Given the description of an element on the screen output the (x, y) to click on. 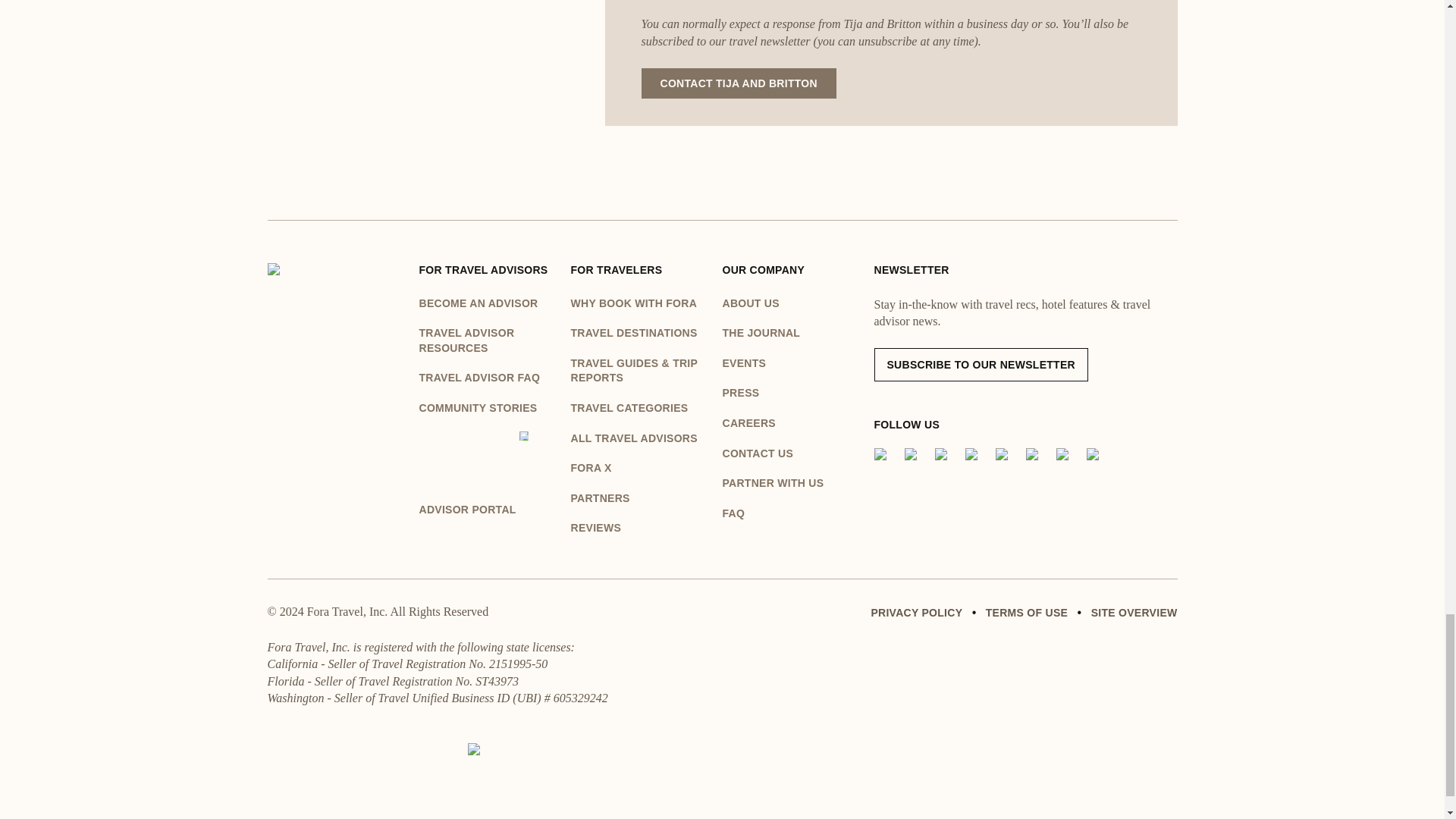
ABOUT US (797, 304)
BECOME AN ADVISOR (486, 304)
CONTACT TIJA AND BRITTON (738, 82)
TRAVEL ADVISOR FAQ (486, 378)
ALL TRAVEL ADVISORS (638, 438)
THE JOURNAL (797, 333)
REVIEWS (638, 528)
TRAVEL ADVISOR RESOURCES (486, 340)
TRAVEL CATEGORIES (638, 408)
FORA X (638, 468)
PARTNERS (638, 498)
TRAVEL DESTINATIONS (638, 333)
ADVISOR PORTAL (486, 474)
COMMUNITY STORIES (486, 408)
WHY BOOK WITH FORA (638, 304)
